Given the description of an element on the screen output the (x, y) to click on. 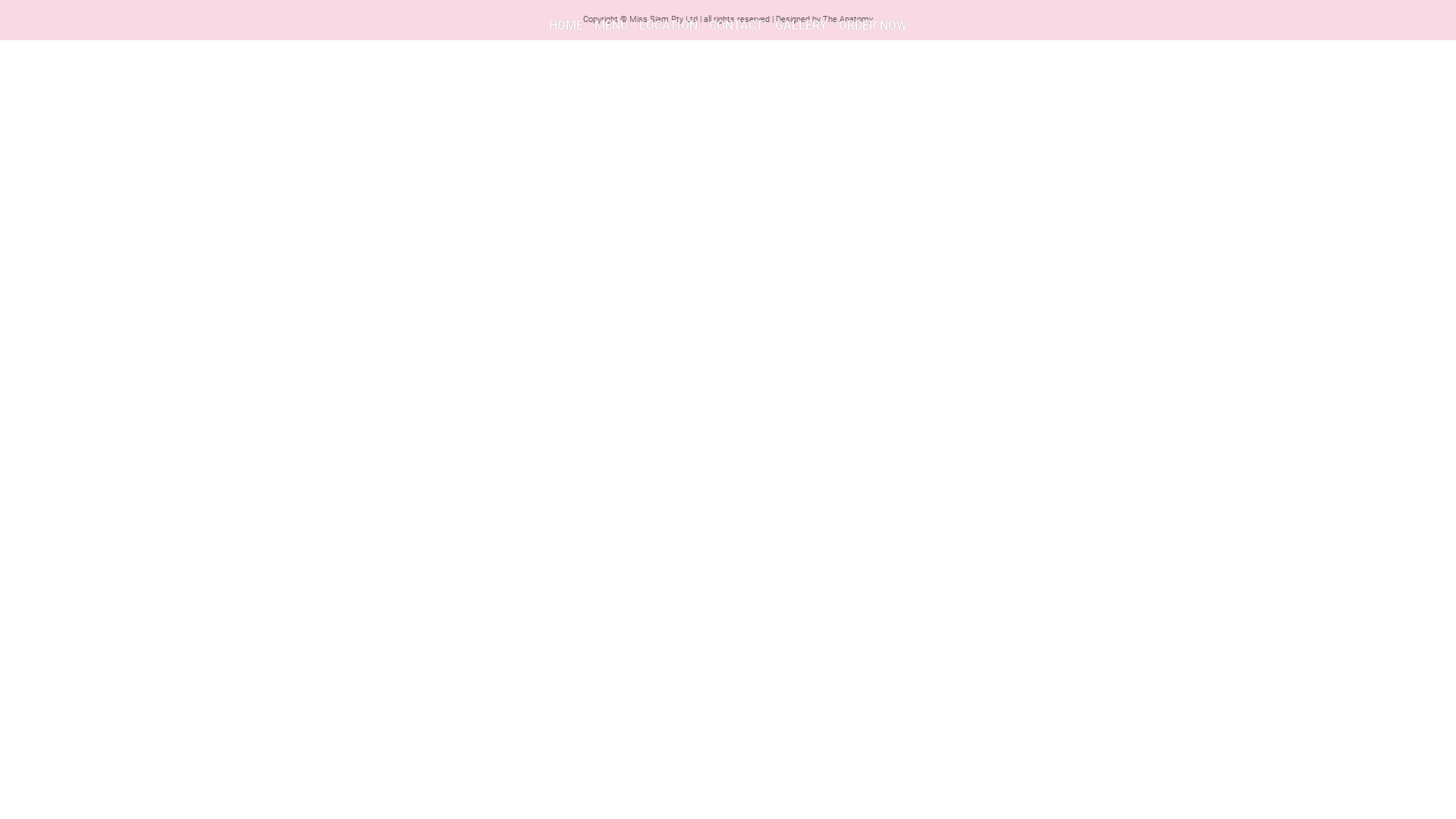
HOME Element type: text (566, 25)
MENU Element type: text (610, 25)
CONTACT Element type: text (736, 25)
GALLERY Element type: text (801, 25)
LOCATION Element type: text (668, 25)
ORDER NOW Element type: text (872, 25)
